Given the description of an element on the screen output the (x, y) to click on. 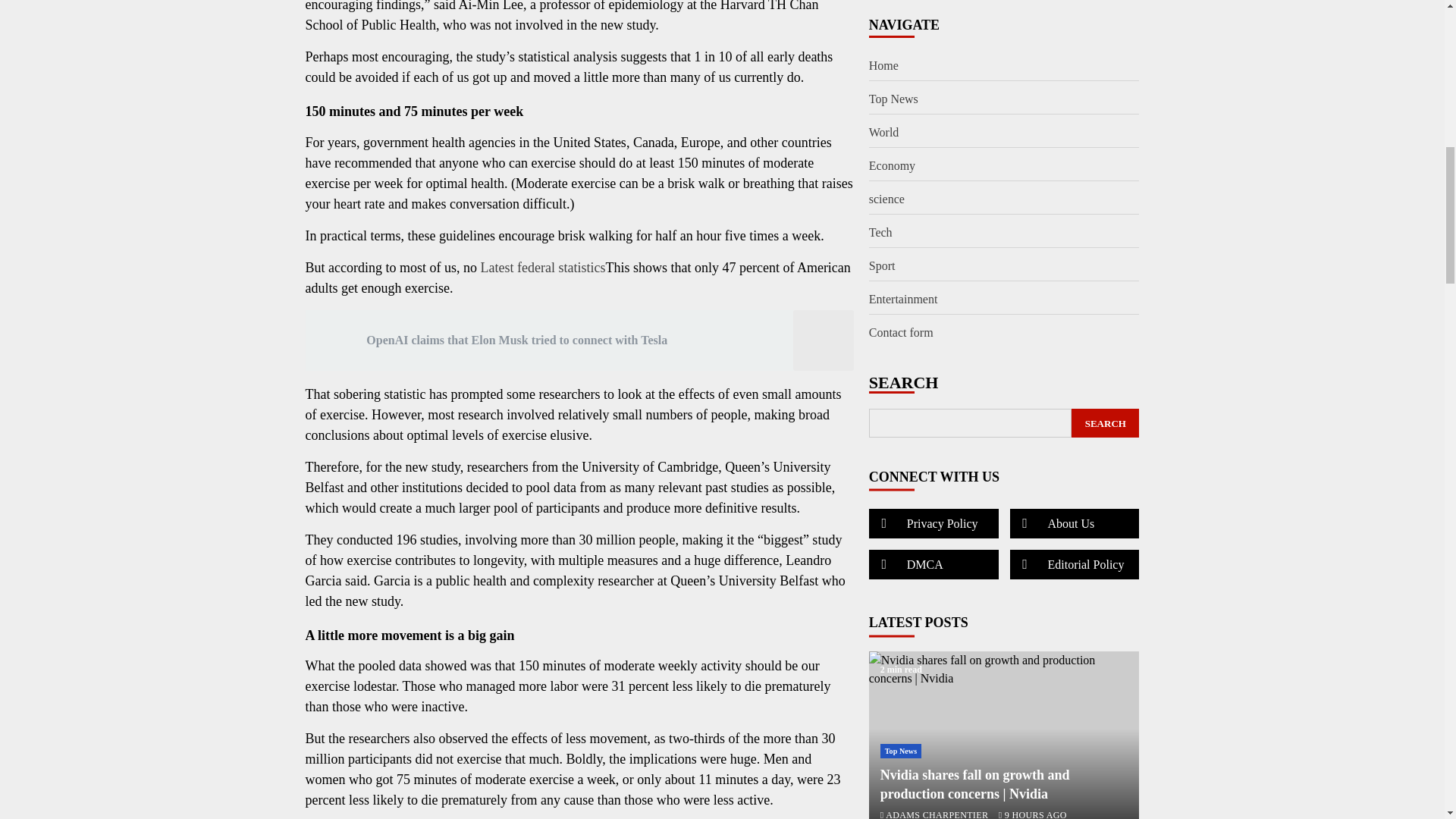
Matching dinosaur footprints found on two continents (1004, 606)
Latest federal statistics (541, 267)
